Given the description of an element on the screen output the (x, y) to click on. 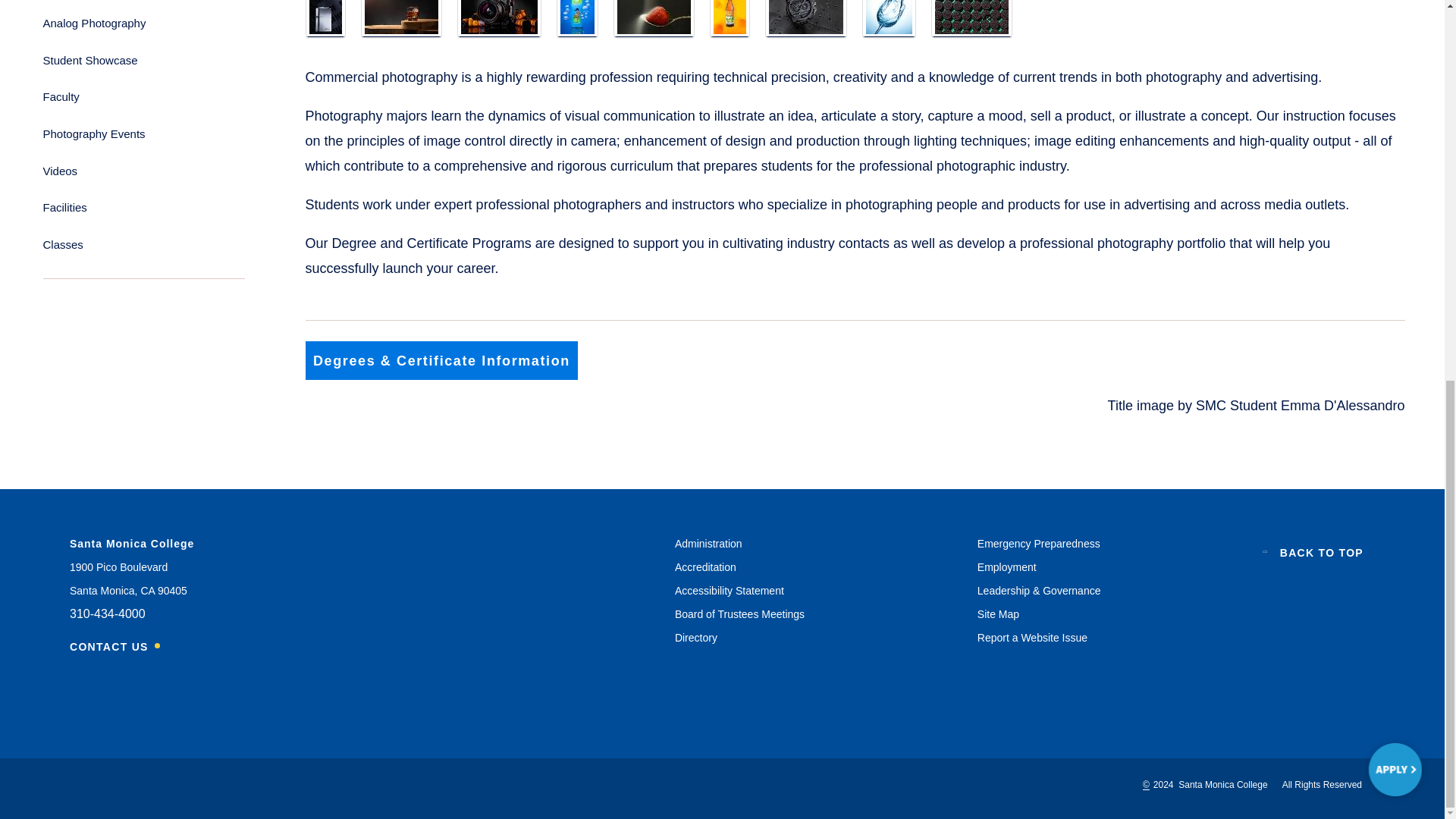
Commercial Studio Photography (653, 17)
Commercial Studio Photography (325, 17)
Commercial Studio Photography (401, 17)
Commercial Studio Photography (576, 17)
Commercial Studio Photography (499, 17)
Commercial Studio Photography (729, 17)
